Given the description of an element on the screen output the (x, y) to click on. 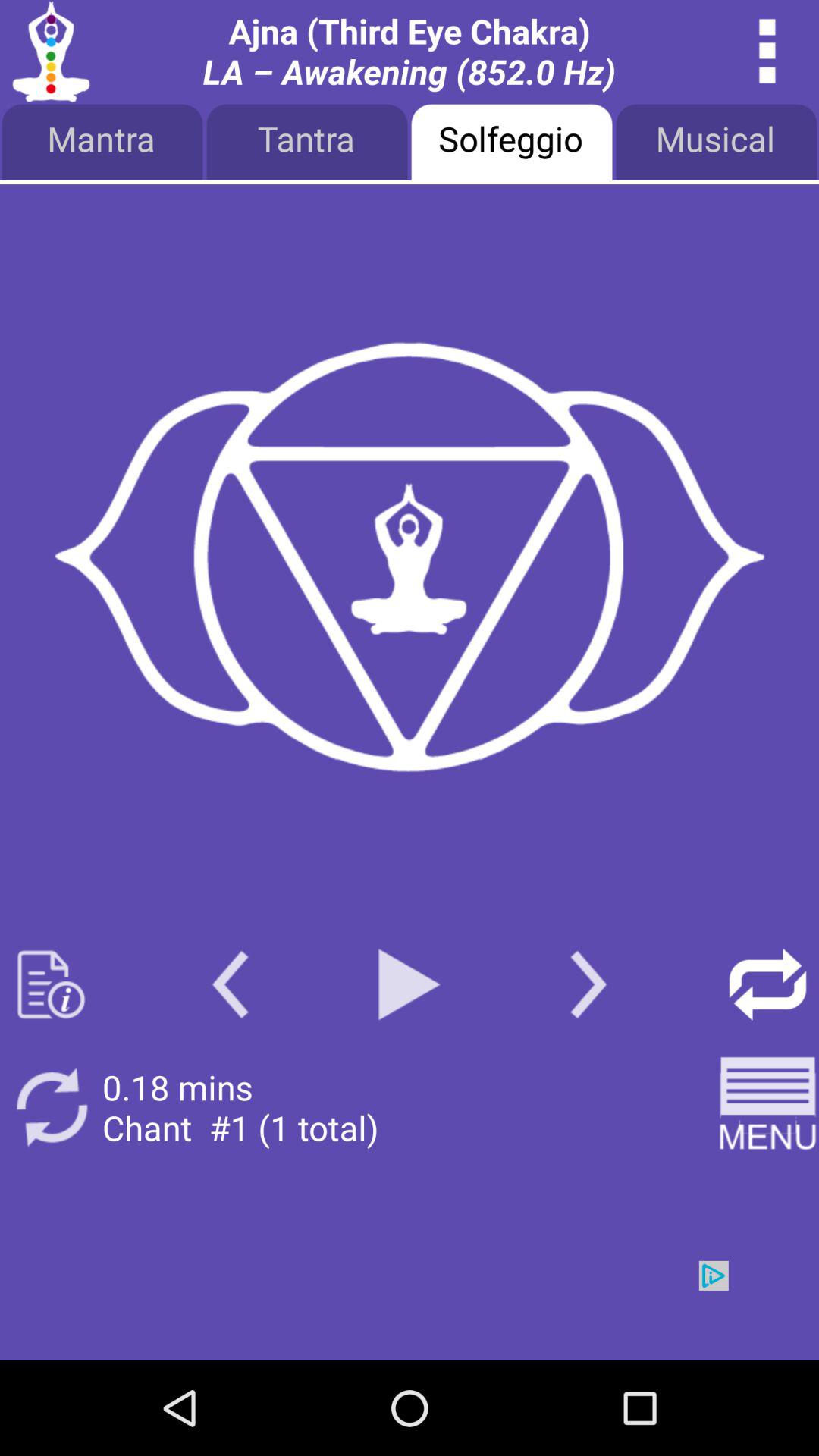
go to next (409, 1310)
